Given the description of an element on the screen output the (x, y) to click on. 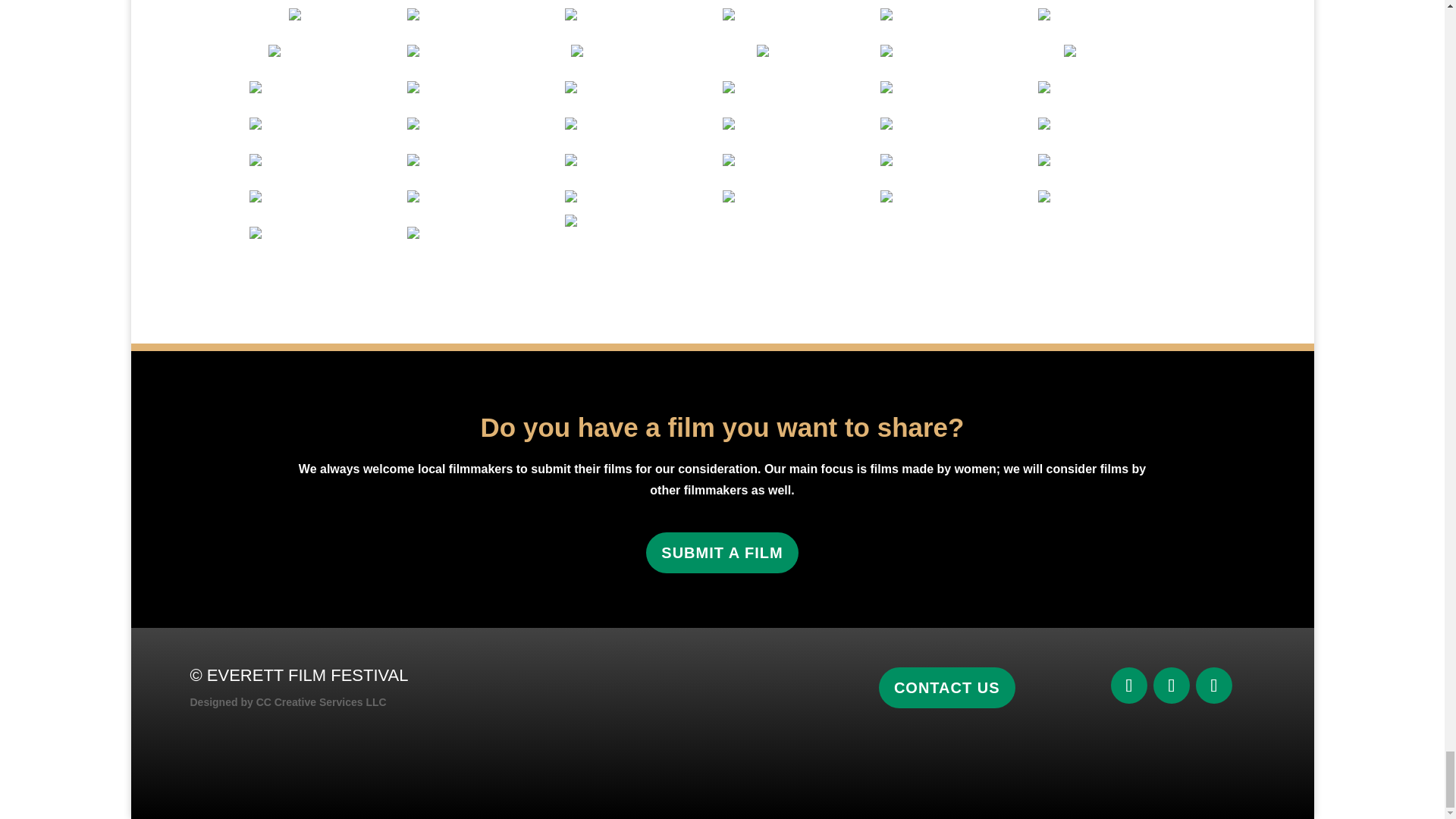
logos-14 (327, 14)
logos-15 (643, 14)
logos-16 (800, 14)
logos-18 (957, 14)
logos-13 (485, 14)
